Given the description of an element on the screen output the (x, y) to click on. 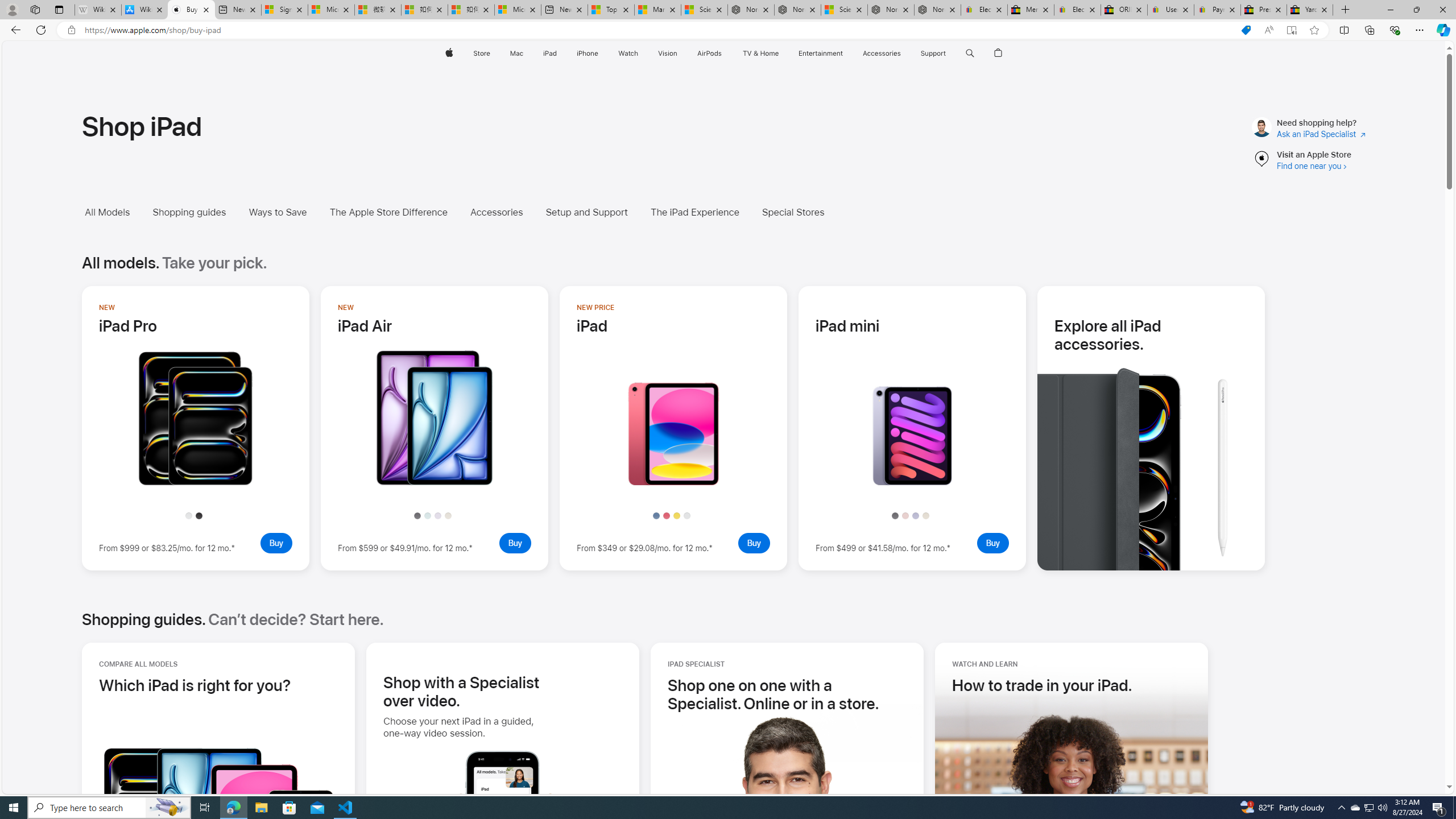
Apple (448, 53)
Store (481, 53)
Starlight (925, 515)
The Apple Store Difference (387, 212)
Shopping Bag (998, 53)
AutomationID: globalnav-bag (998, 53)
Buy iPad - Apple (191, 9)
Take a closer look - iPad mini  (911, 482)
Vision (667, 53)
